Given the description of an element on the screen output the (x, y) to click on. 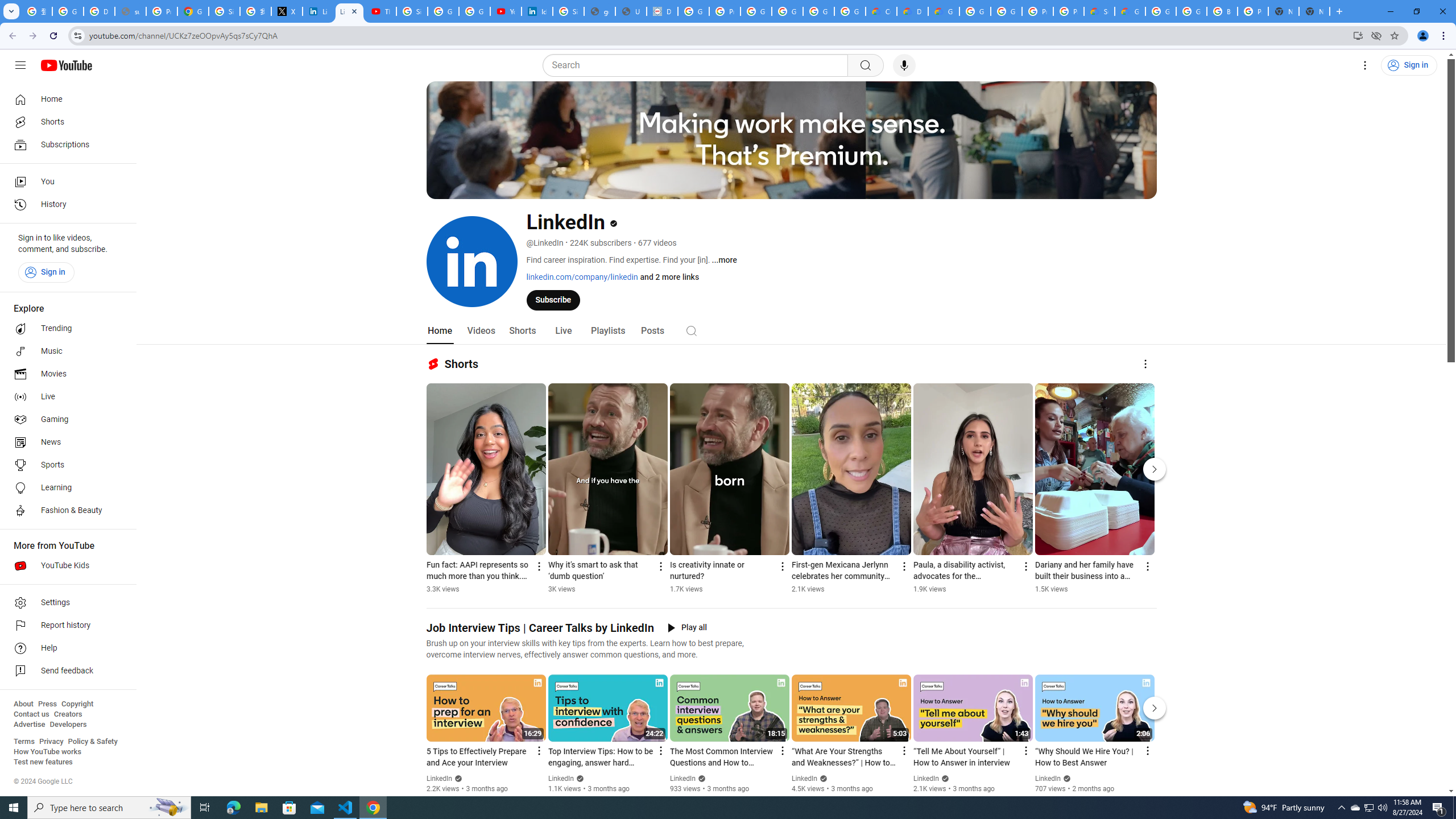
Search with your voice (903, 65)
Shorts (521, 330)
More actions (1146, 566)
Posts (652, 330)
Privacy Help Center - Policies Help (161, 11)
Movies (64, 373)
Sign in - Google Accounts (411, 11)
About (23, 703)
YouTube Kids (64, 565)
